Given the description of an element on the screen output the (x, y) to click on. 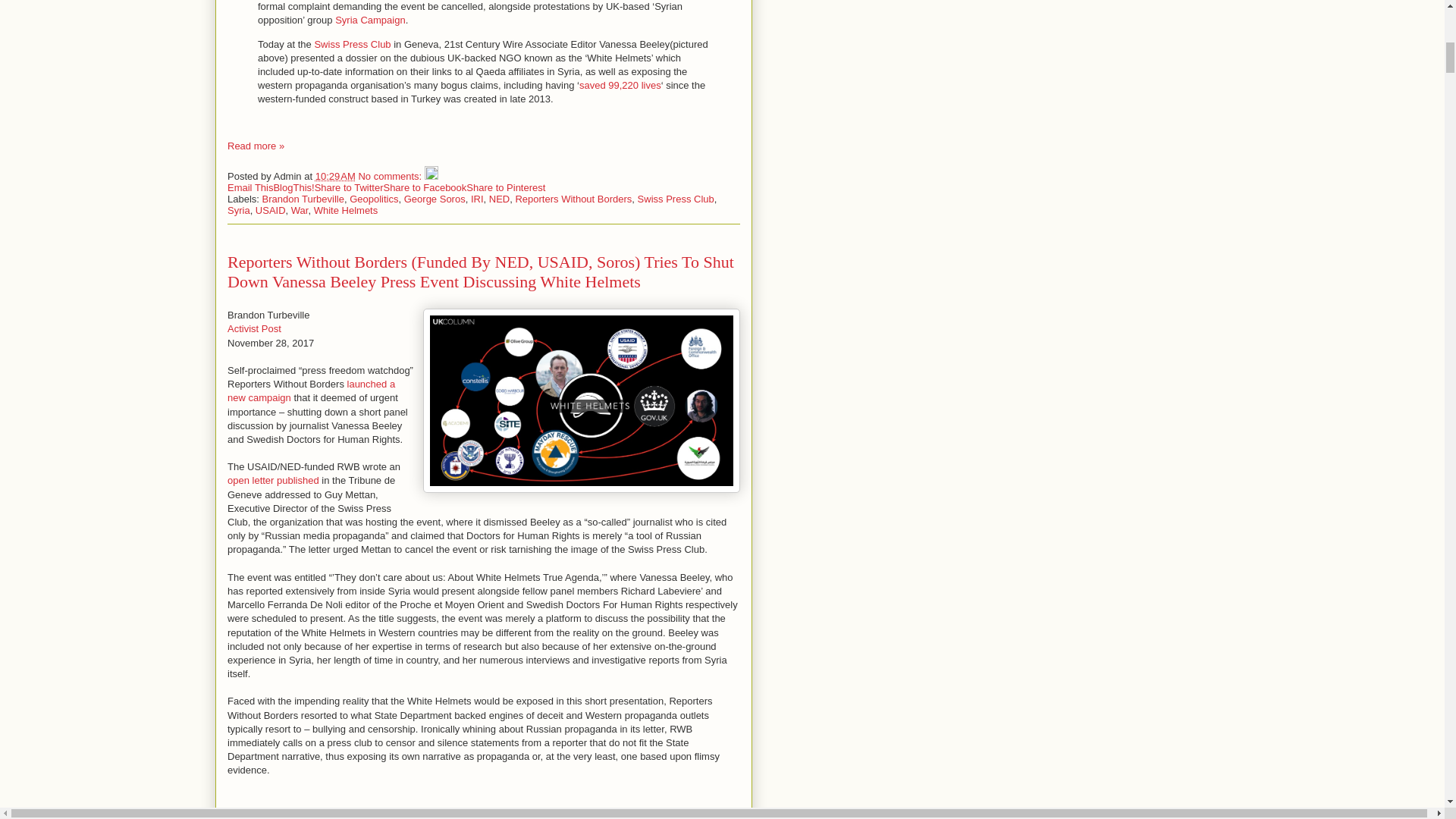
White Helmets (346, 210)
Email This (250, 187)
saved 99,220 lives (620, 84)
Brandon Turbeville (302, 198)
permanent link (335, 175)
Email This (250, 187)
NED (499, 198)
Swiss Press Club (352, 43)
George Soros (434, 198)
Syria Campaign (370, 19)
War (299, 210)
No comments: (390, 175)
Geopolitics (373, 198)
Share to Twitter (349, 187)
